Given the description of an element on the screen output the (x, y) to click on. 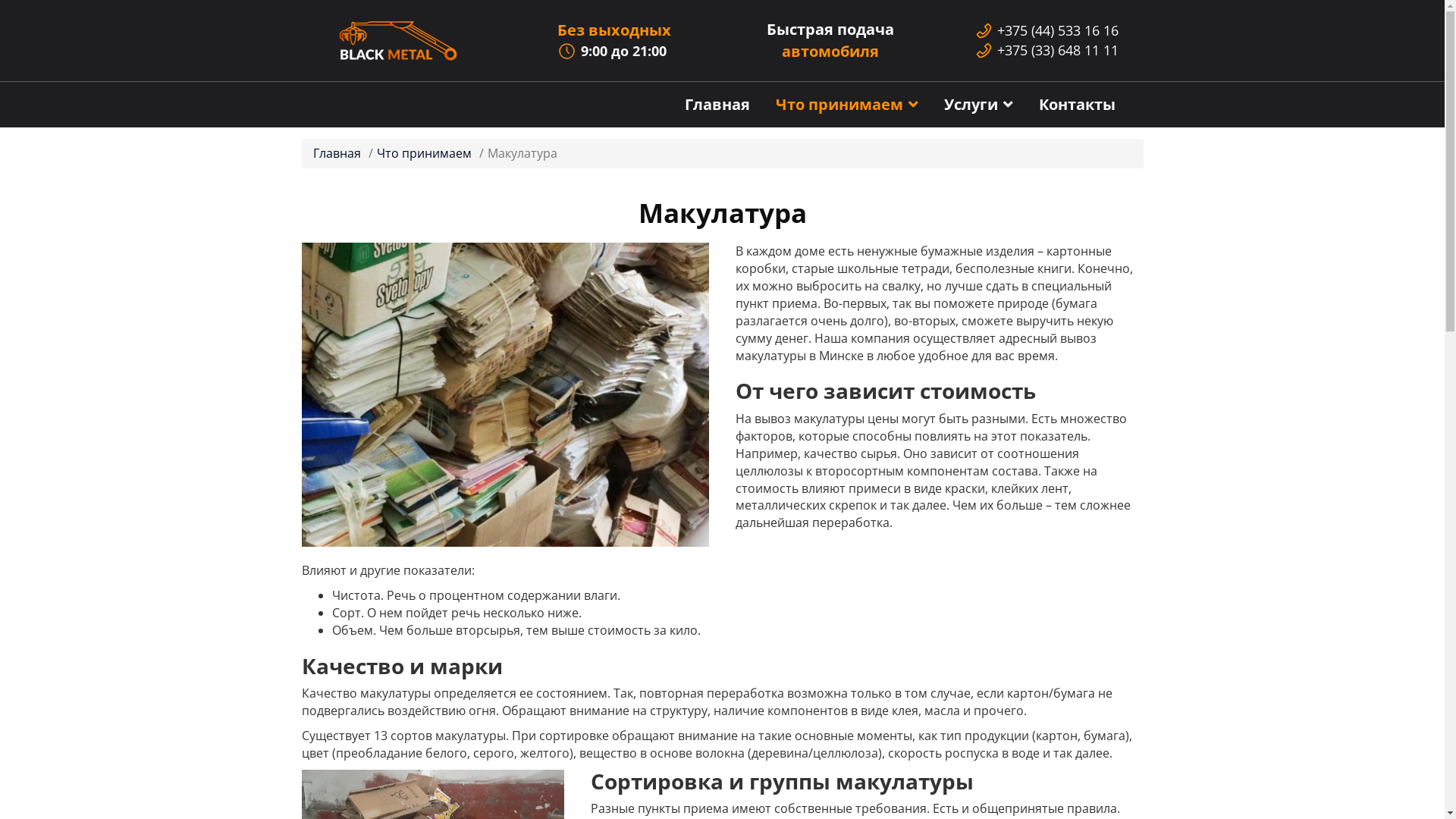
+375 (33) 648 11 11 Element type: text (1057, 49)
+375 (44) 533 16 16 Element type: text (1057, 30)
